Given the description of an element on the screen output the (x, y) to click on. 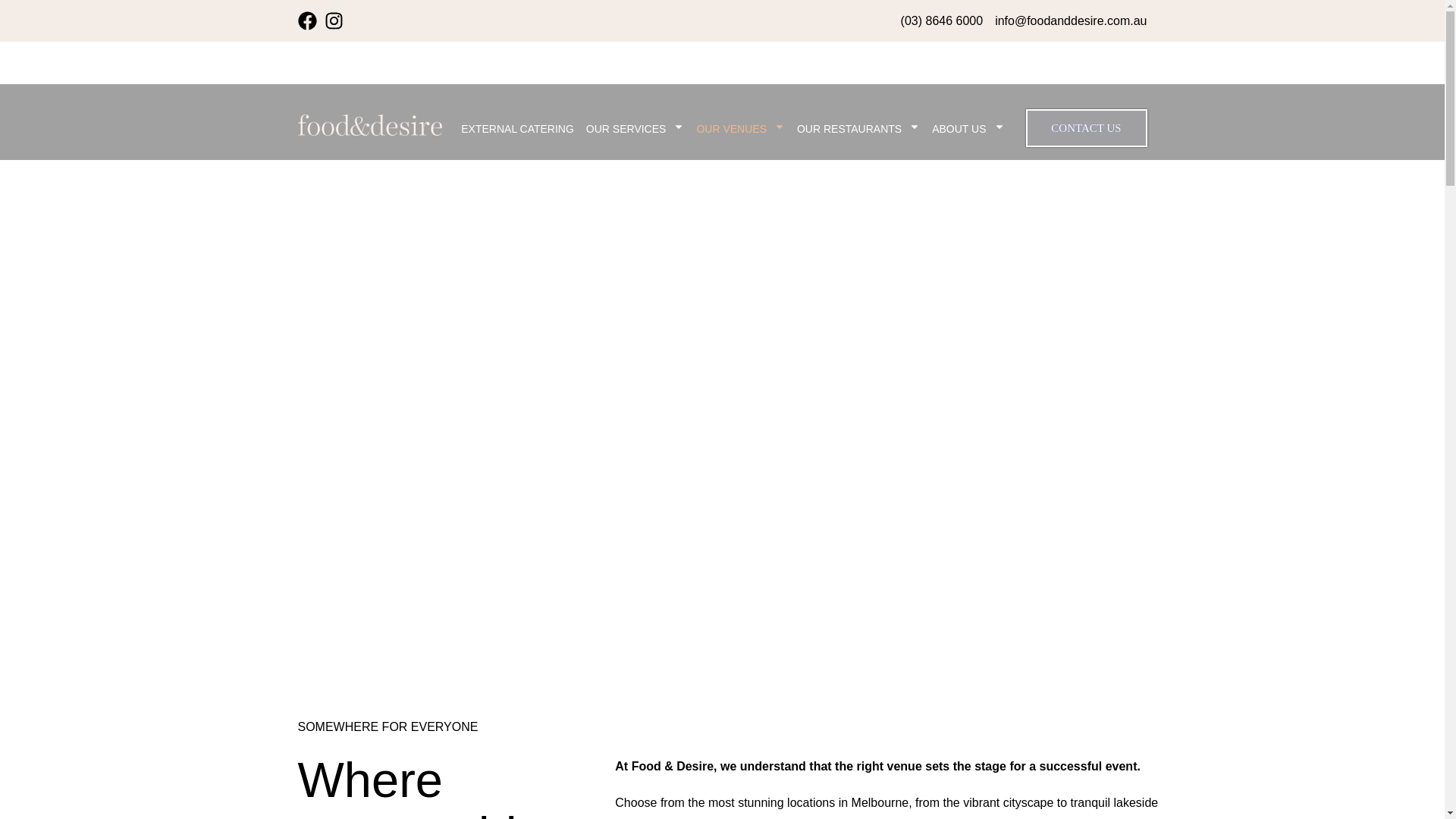
OUR SERVICES (634, 128)
EXTERNAL CATERING (516, 128)
ABOUT US (968, 128)
OUR RESTAURANTS (858, 128)
OUR VENUES (740, 128)
